Given the description of an element on the screen output the (x, y) to click on. 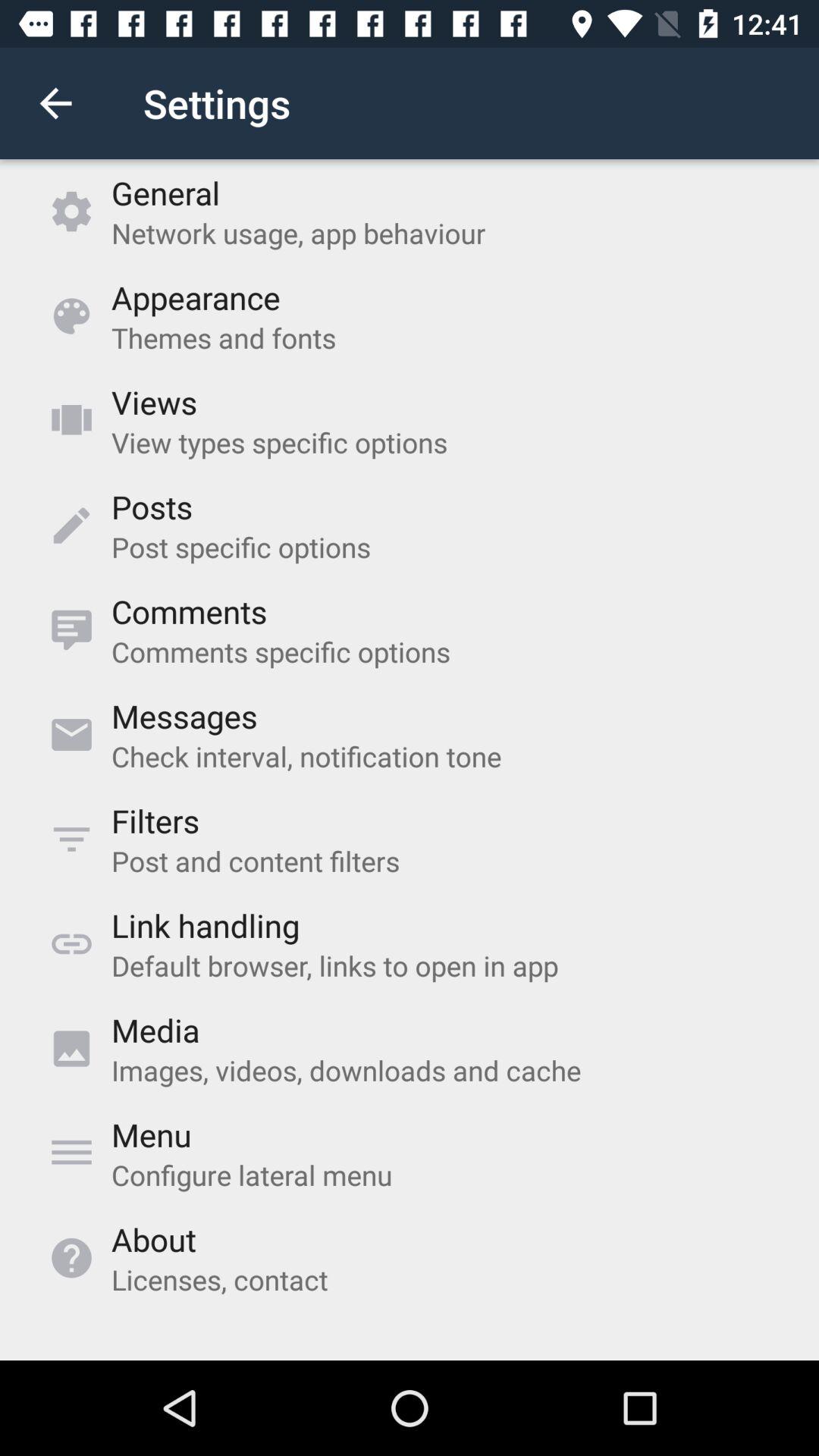
launch media item (155, 1029)
